Given the description of an element on the screen output the (x, y) to click on. 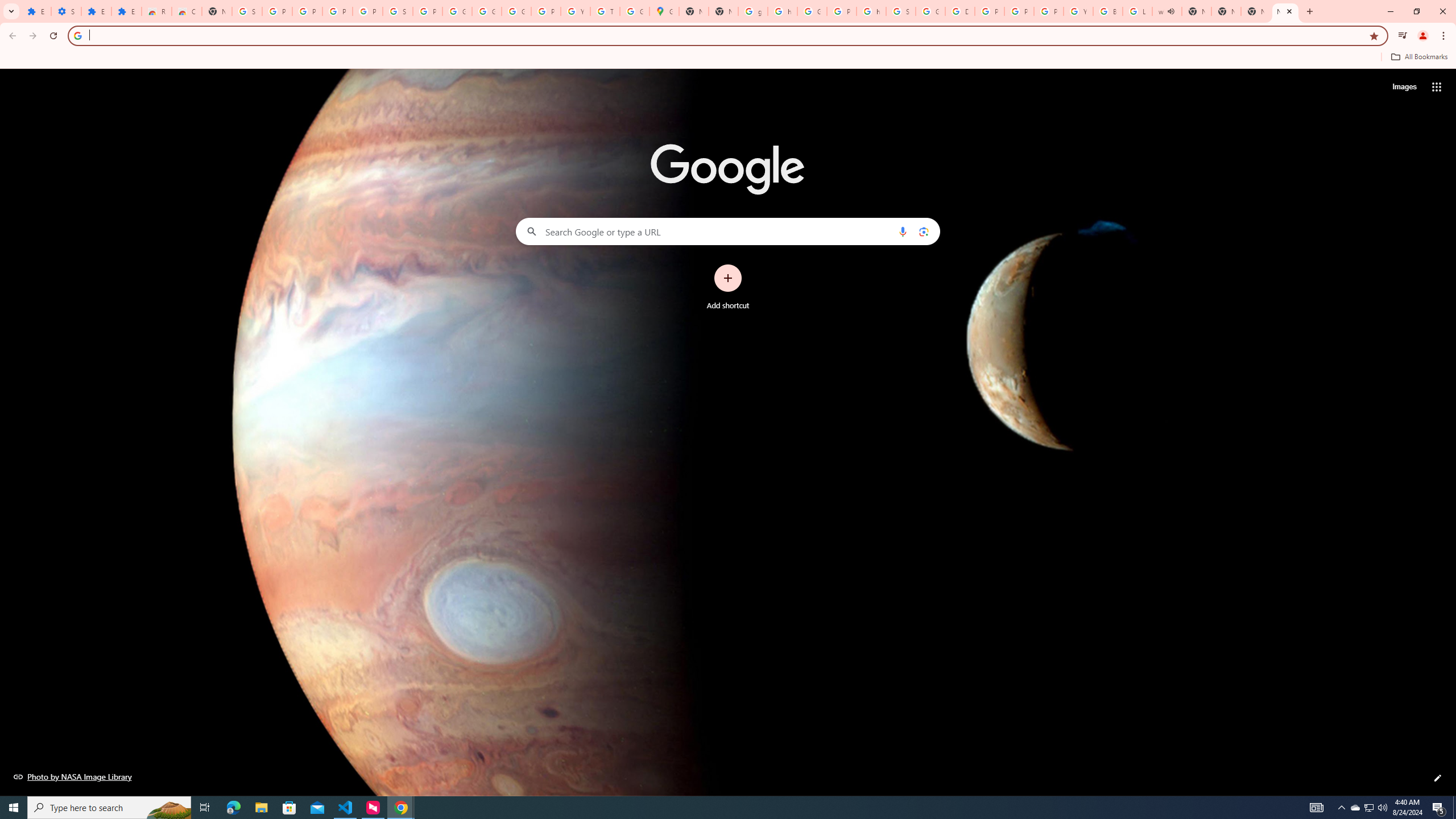
Chrome Web Store - Themes (185, 11)
Photo by NASA Image Library (72, 776)
Extensions (126, 11)
Sign in - Google Accounts (247, 11)
Extensions (95, 11)
